Given the description of an element on the screen output the (x, y) to click on. 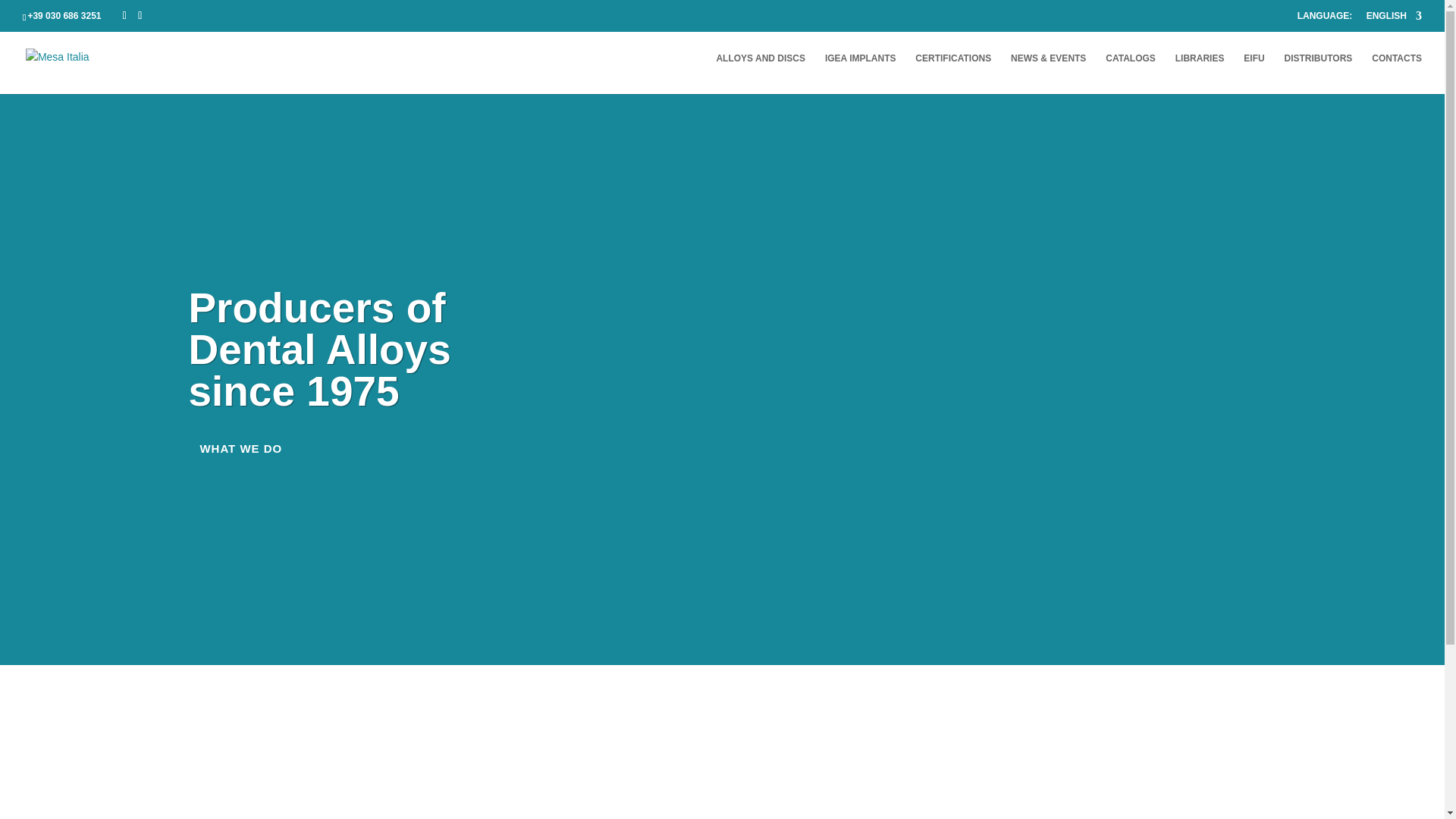
IGEA IMPLANTS (860, 73)
ENGLISH (1394, 18)
English (1394, 18)
CATALOGS (1130, 73)
CERTIFICATIONS (953, 73)
DISTRIBUTORS (1318, 73)
EIFU (1253, 73)
CONTACTS (1396, 73)
LANGUAGE: (1324, 18)
ALLOYS AND DISCS (760, 73)
LIBRARIES (1199, 73)
